Given the description of an element on the screen output the (x, y) to click on. 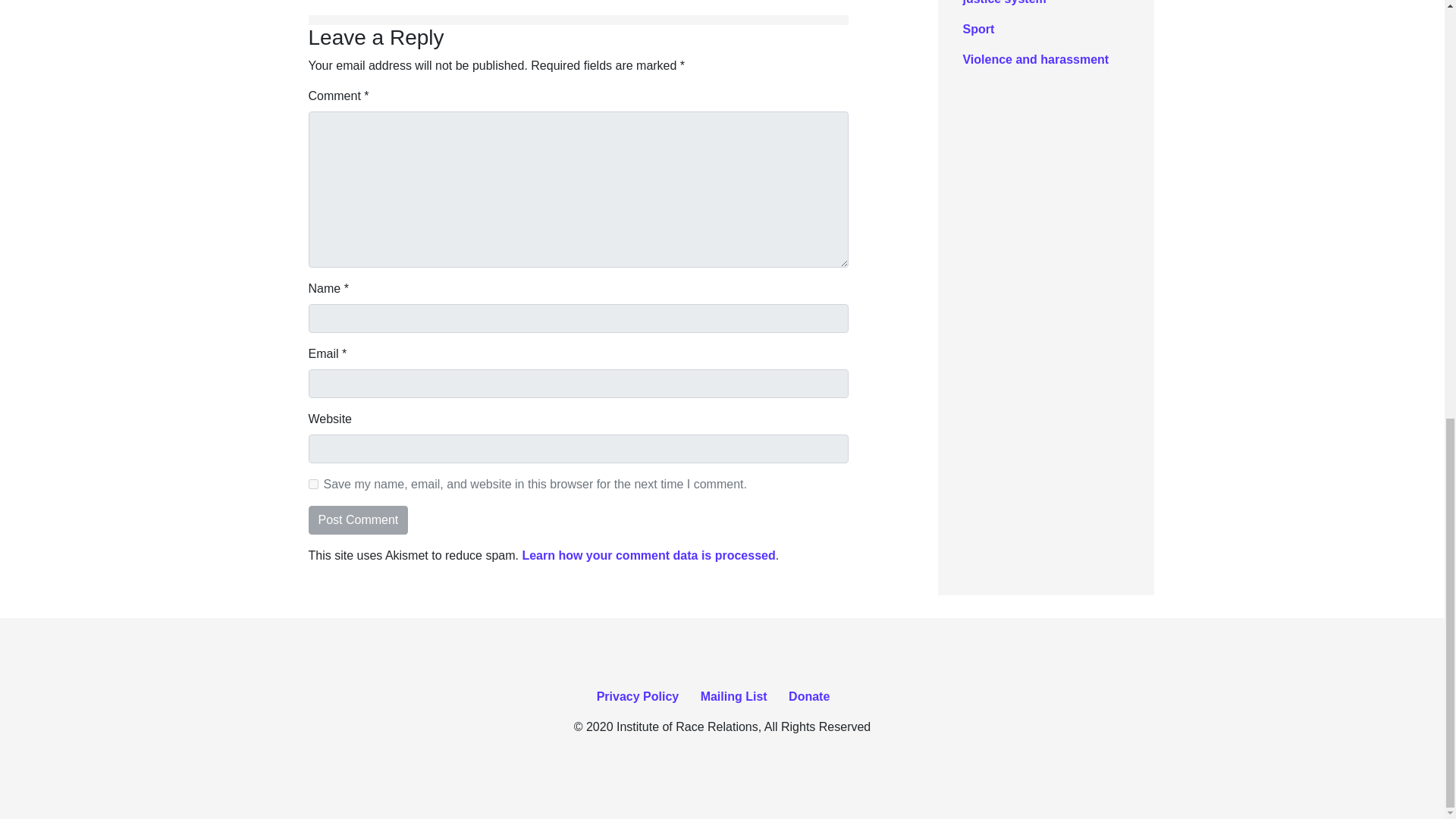
Post Comment (357, 520)
yes (312, 483)
